Given the description of an element on the screen output the (x, y) to click on. 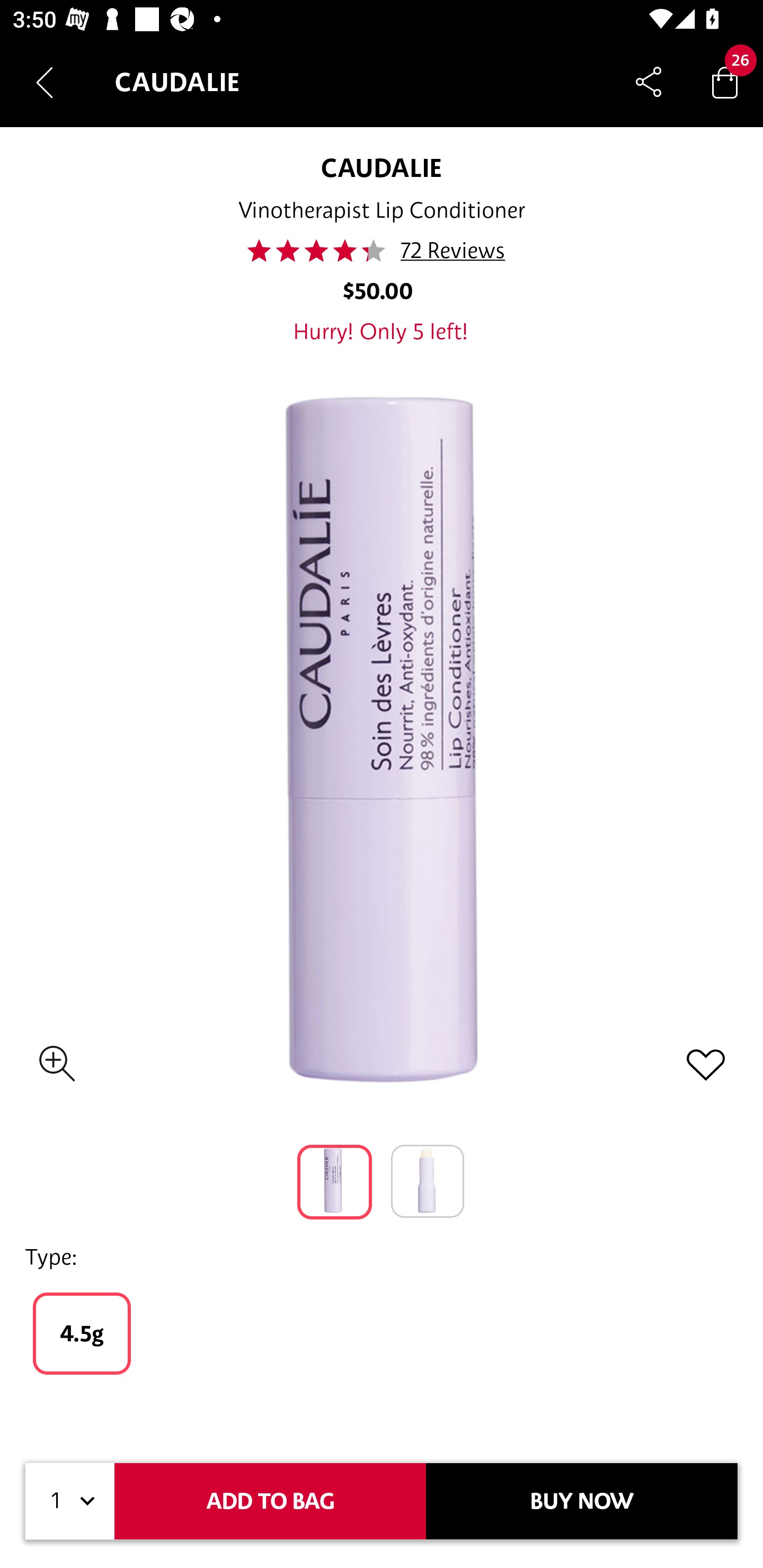
Navigate up (44, 82)
Share (648, 81)
Bag (724, 81)
CAUDALIE (380, 167)
43.0 72 Reviews (381, 250)
4.5g (81, 1333)
1 (69, 1500)
ADD TO BAG (269, 1500)
BUY NOW (581, 1500)
